Given the description of an element on the screen output the (x, y) to click on. 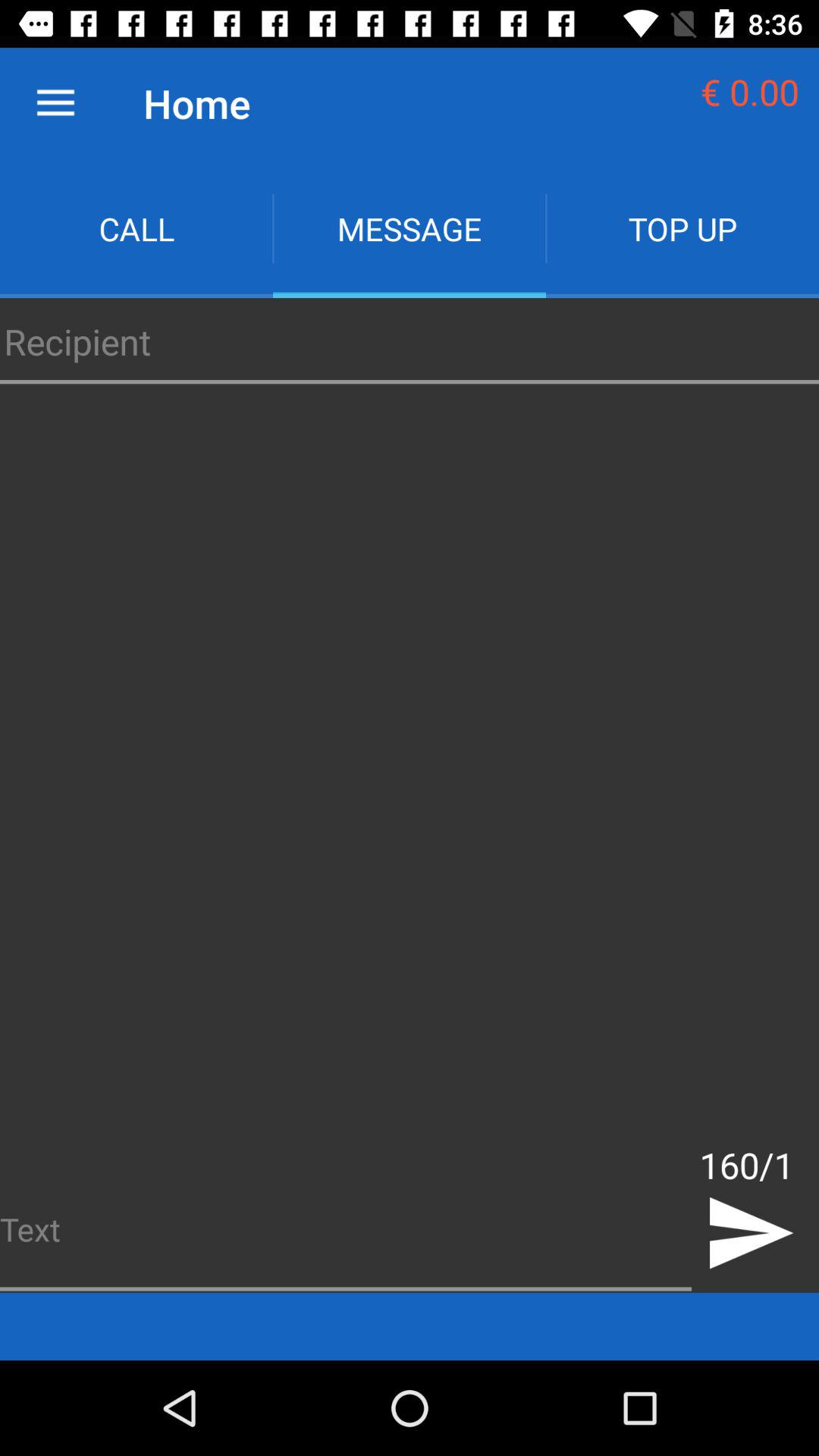
select call icon (136, 228)
